Given the description of an element on the screen output the (x, y) to click on. 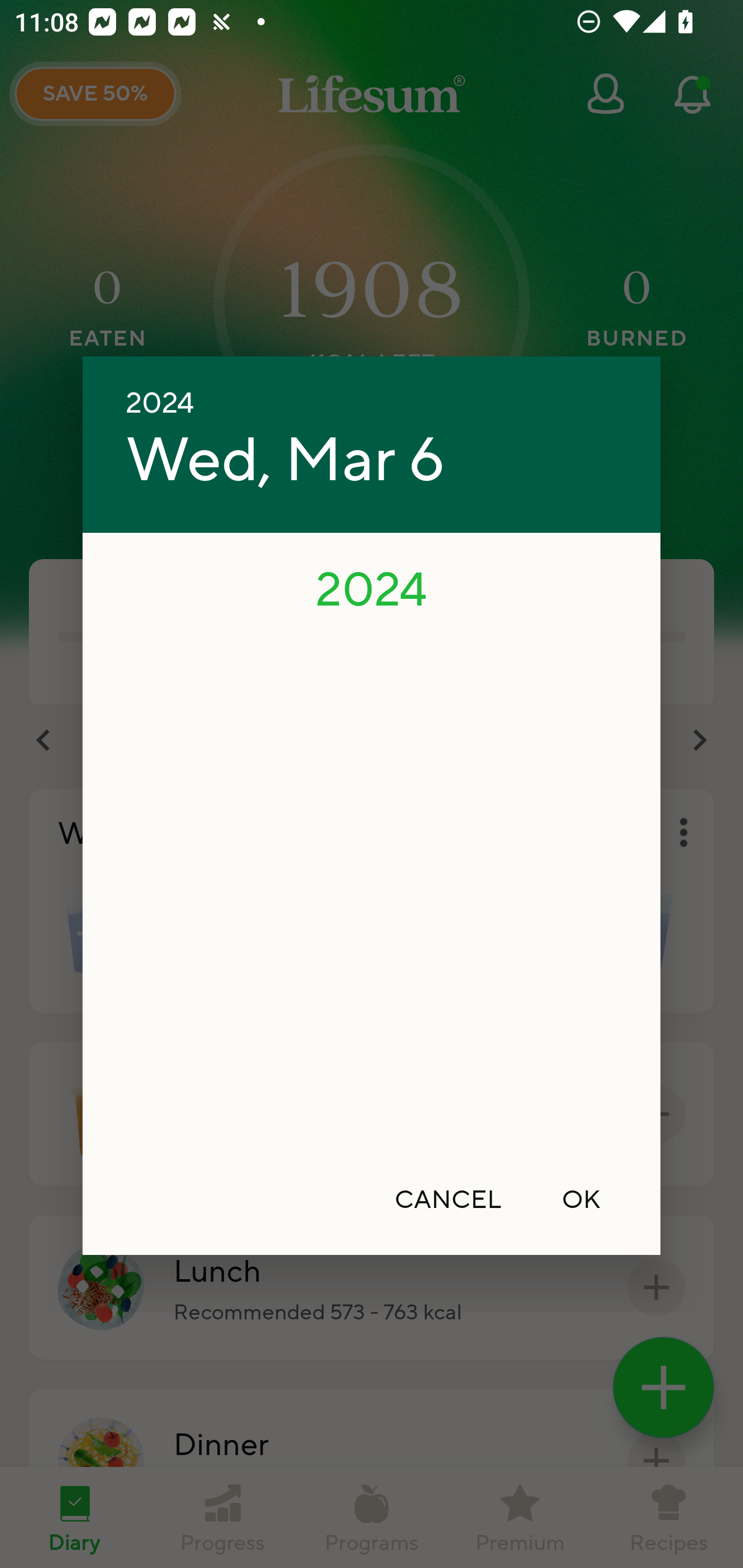
2024 (159, 403)
Wed, Mar 6 (285, 460)
2024 (371, 587)
CANCEL (447, 1199)
OK (580, 1199)
